Given the description of an element on the screen output the (x, y) to click on. 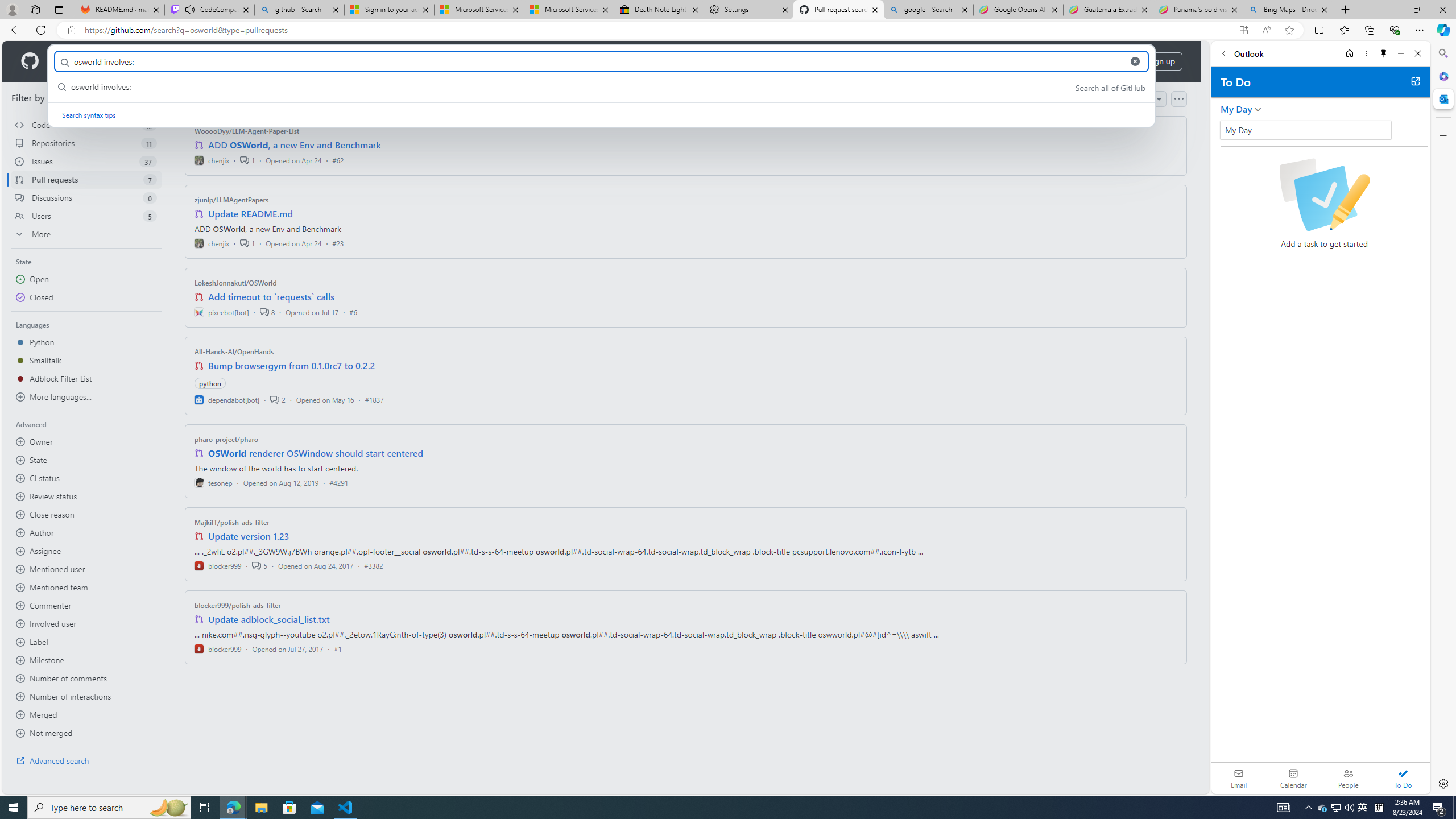
2 (277, 398)
Open column options (1178, 98)
Class: wL_Ii70haOUOvHnsRwbD (1305, 130)
8 (267, 311)
#1837 (374, 398)
